Given the description of an element on the screen output the (x, y) to click on. 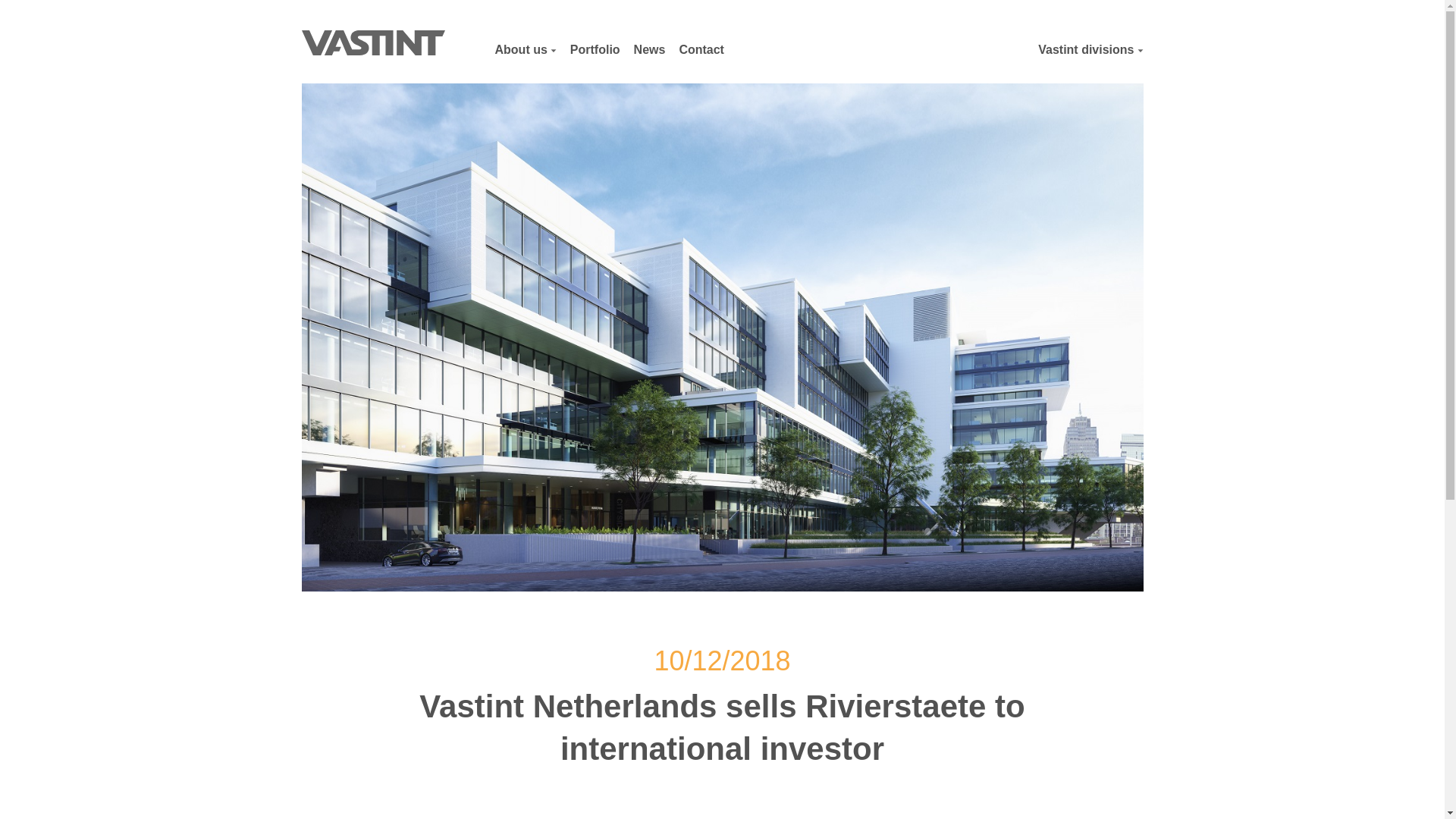
Contact (700, 49)
Vastint (373, 42)
About us (525, 49)
Portfolio (595, 49)
